Given the description of an element on the screen output the (x, y) to click on. 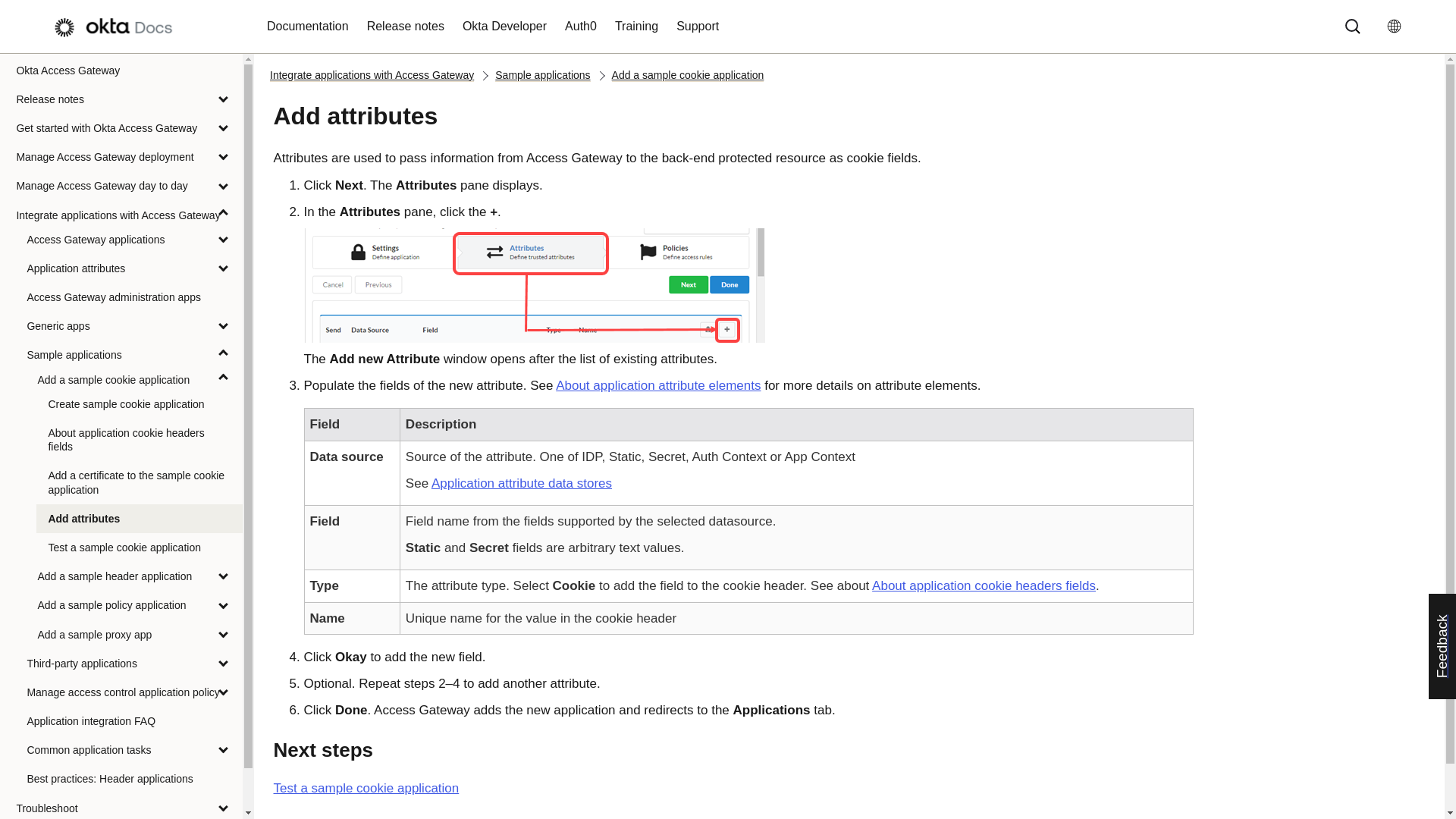
Okta Docs (120, 27)
Change language (1398, 26)
